Given the description of an element on the screen output the (x, y) to click on. 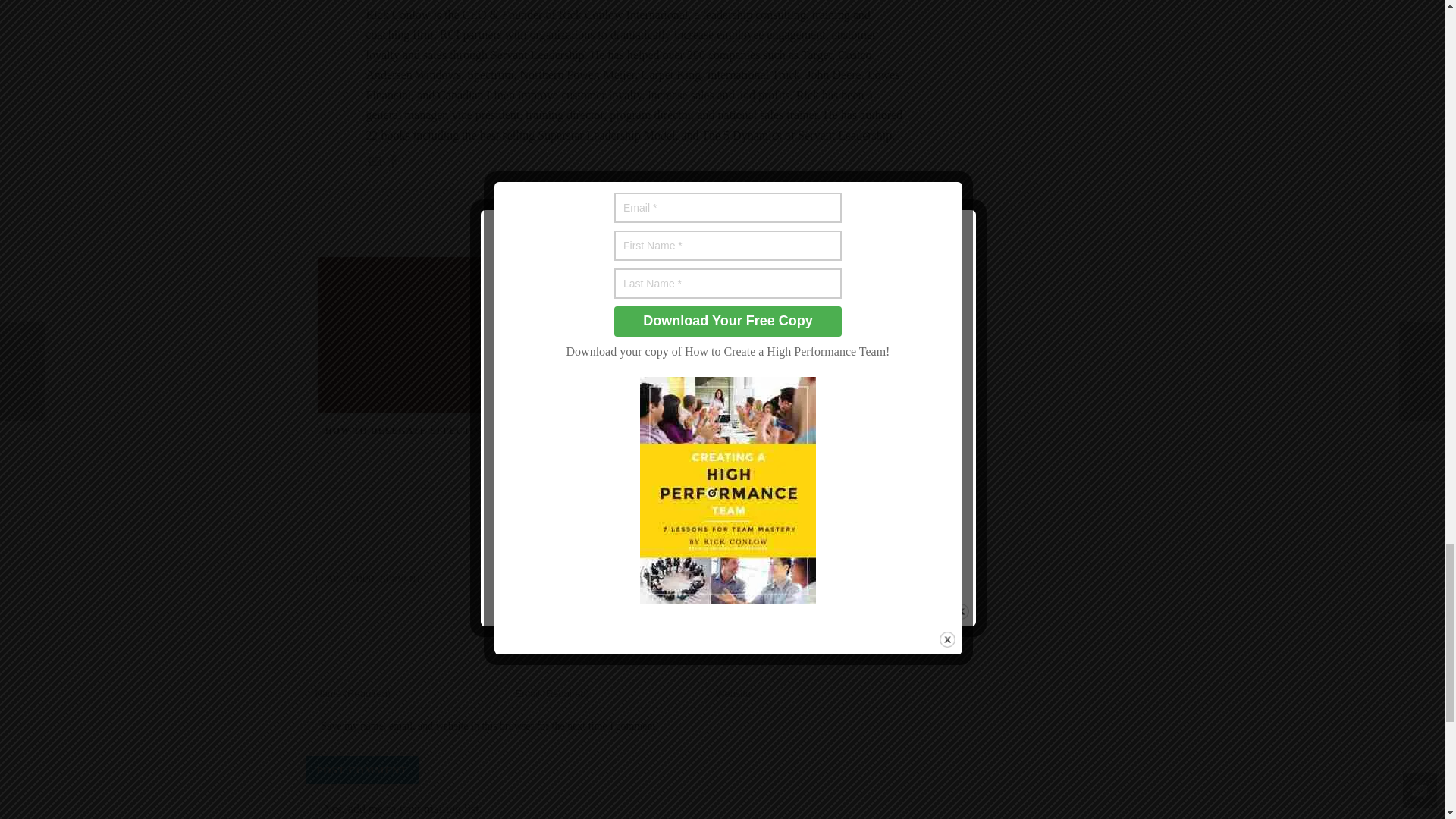
yes (309, 726)
How to Delegate Effectively: 5 Key Steps for Success (408, 334)
POST COMMENT (361, 769)
1 (313, 809)
Follow me on Facebook (392, 163)
Get in touch with me via email (374, 163)
